Given the description of an element on the screen output the (x, y) to click on. 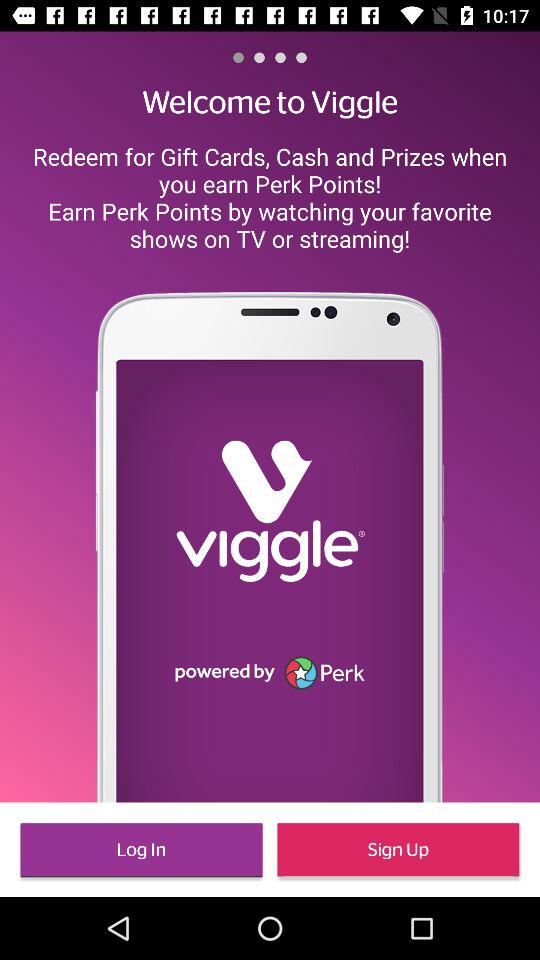
click icon next to sign up item (141, 849)
